Given the description of an element on the screen output the (x, y) to click on. 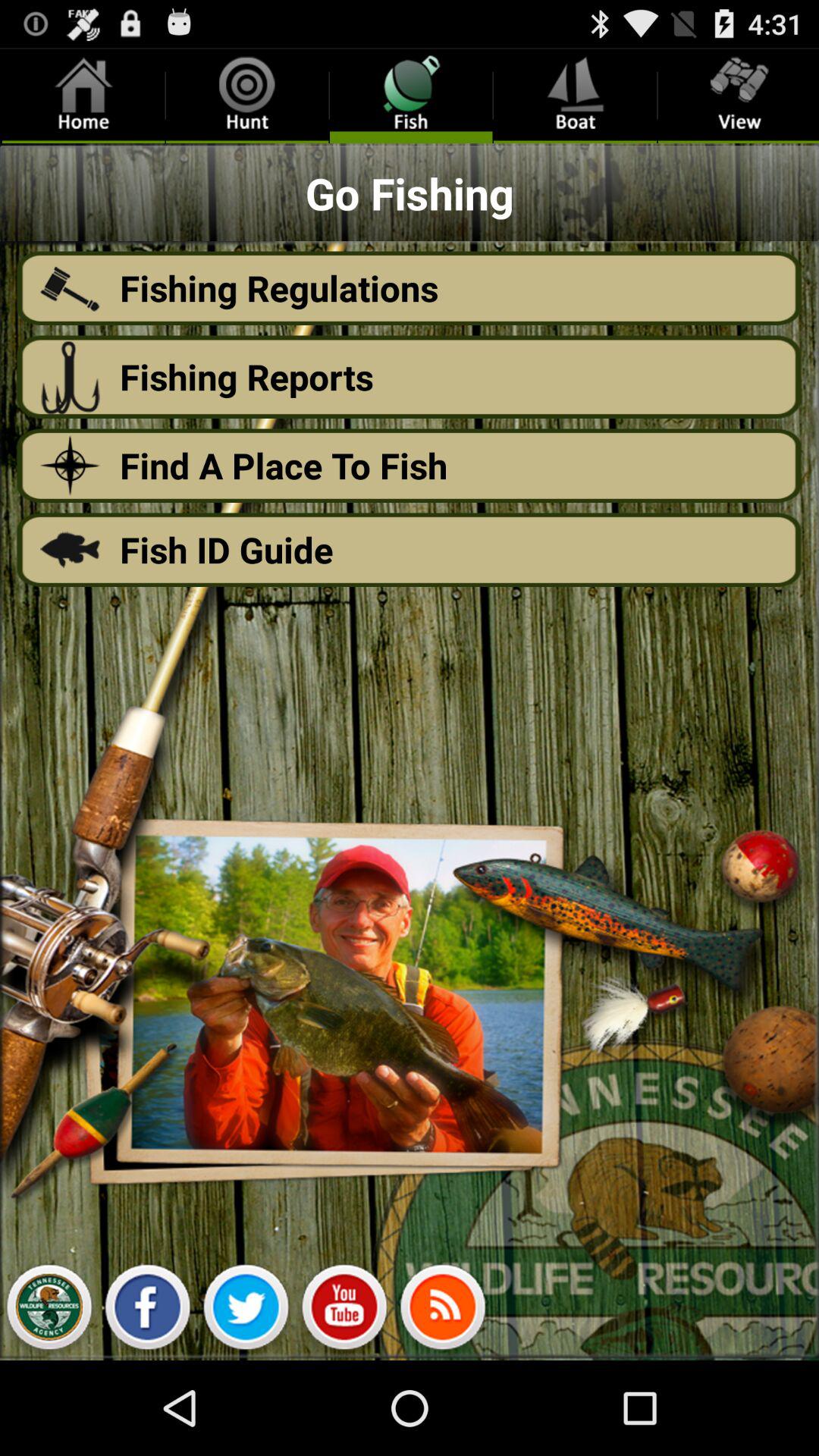
selat you tupe (344, 1311)
